Given the description of an element on the screen output the (x, y) to click on. 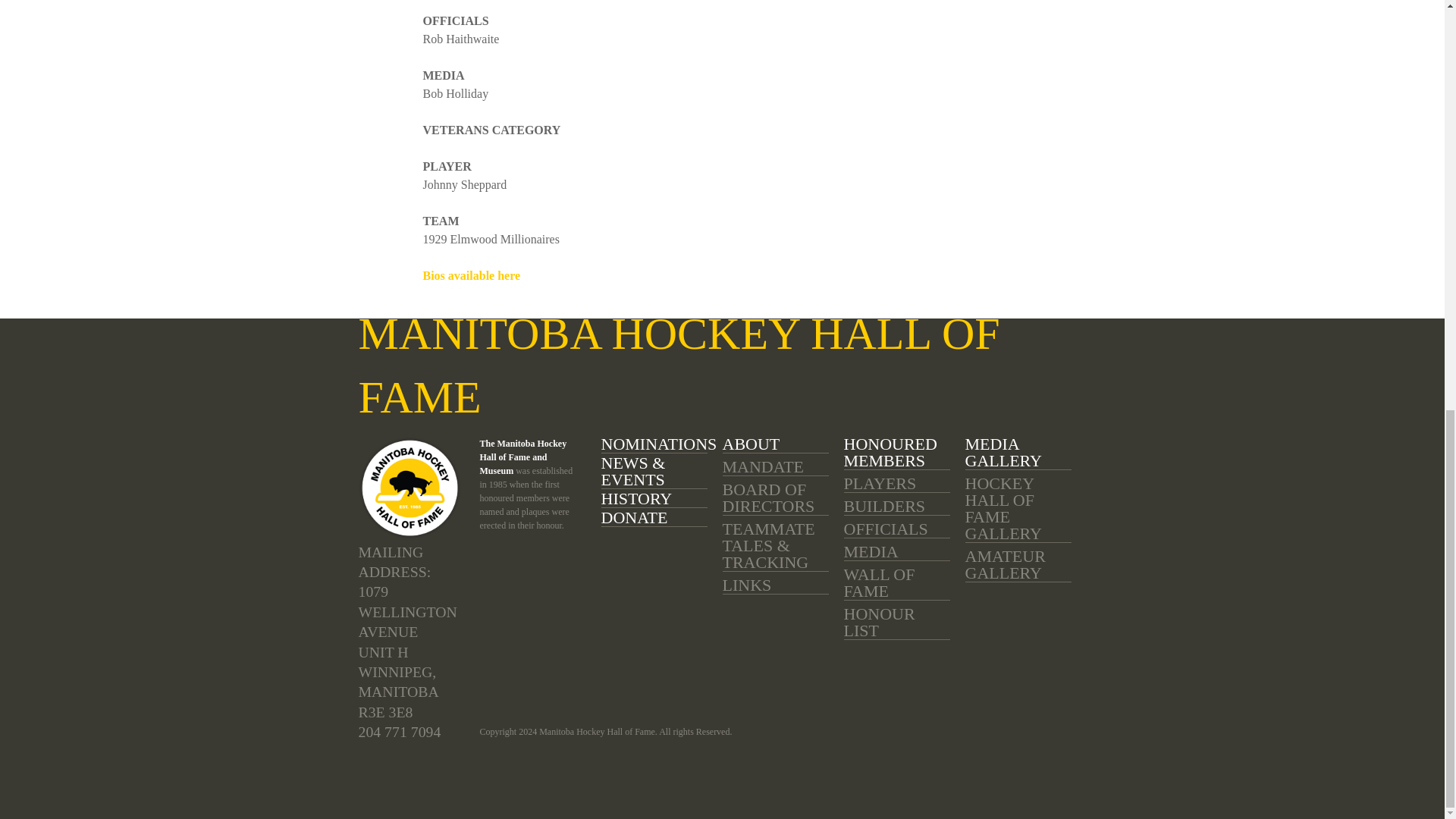
Bios available here (472, 275)
